Given the description of an element on the screen output the (x, y) to click on. 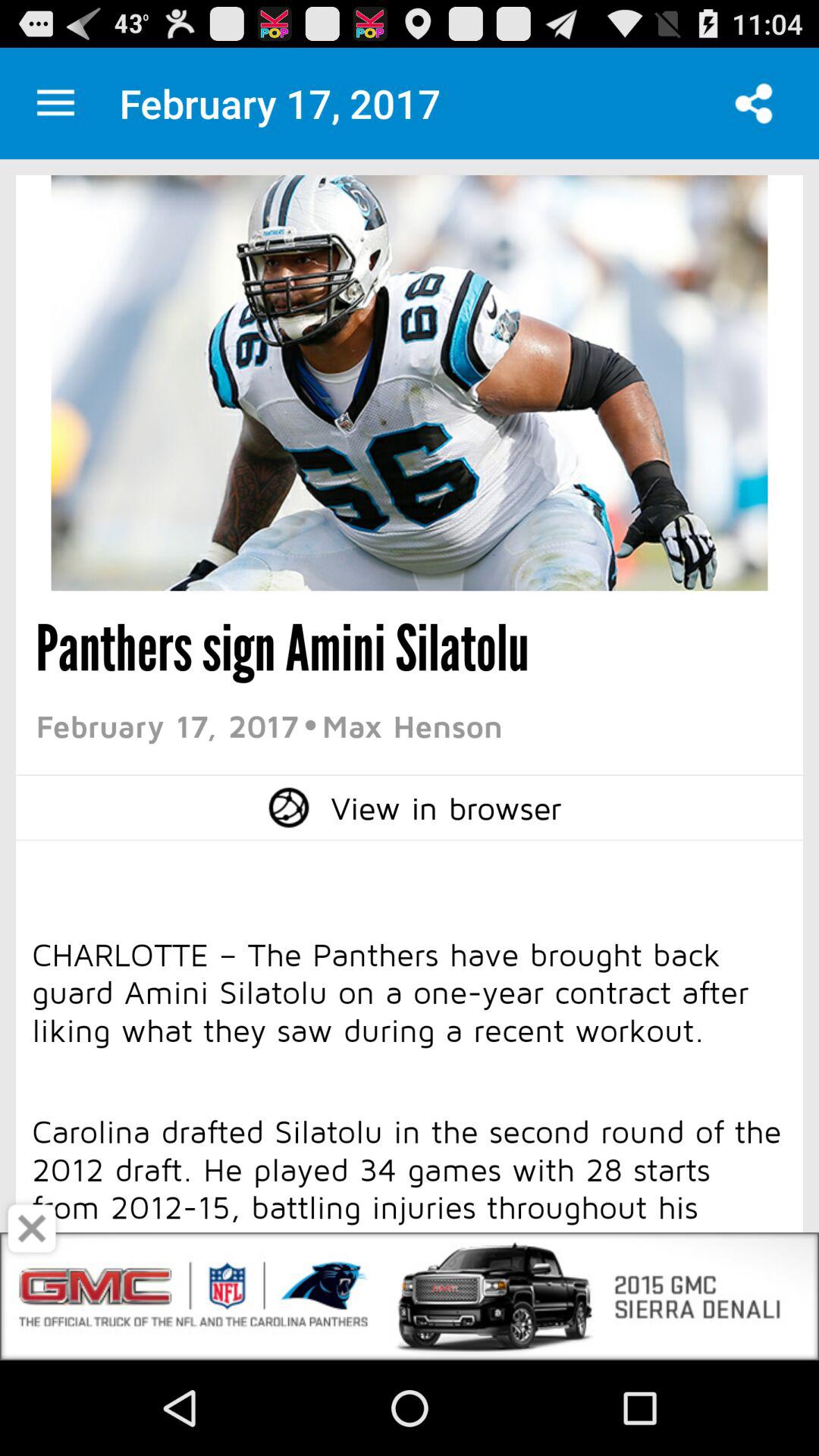
bring up options (55, 103)
